Given the description of an element on the screen output the (x, y) to click on. 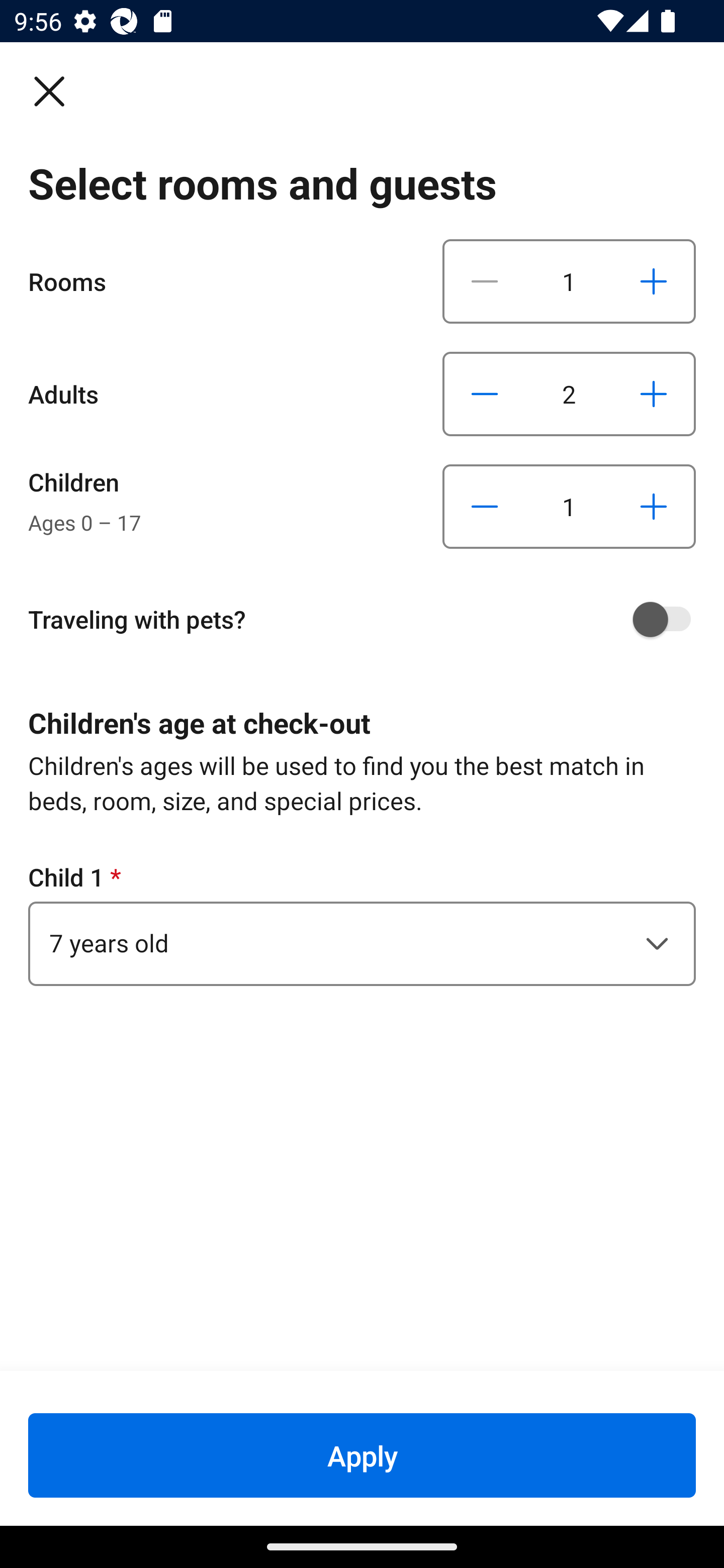
Decrease (484, 281)
Increase (653, 281)
Decrease (484, 393)
Increase (653, 393)
Decrease (484, 506)
Increase (653, 506)
Traveling with pets? (369, 619)
Child 1
required Child 1 * 7 years old (361, 922)
Apply (361, 1454)
